Given the description of an element on the screen output the (x, y) to click on. 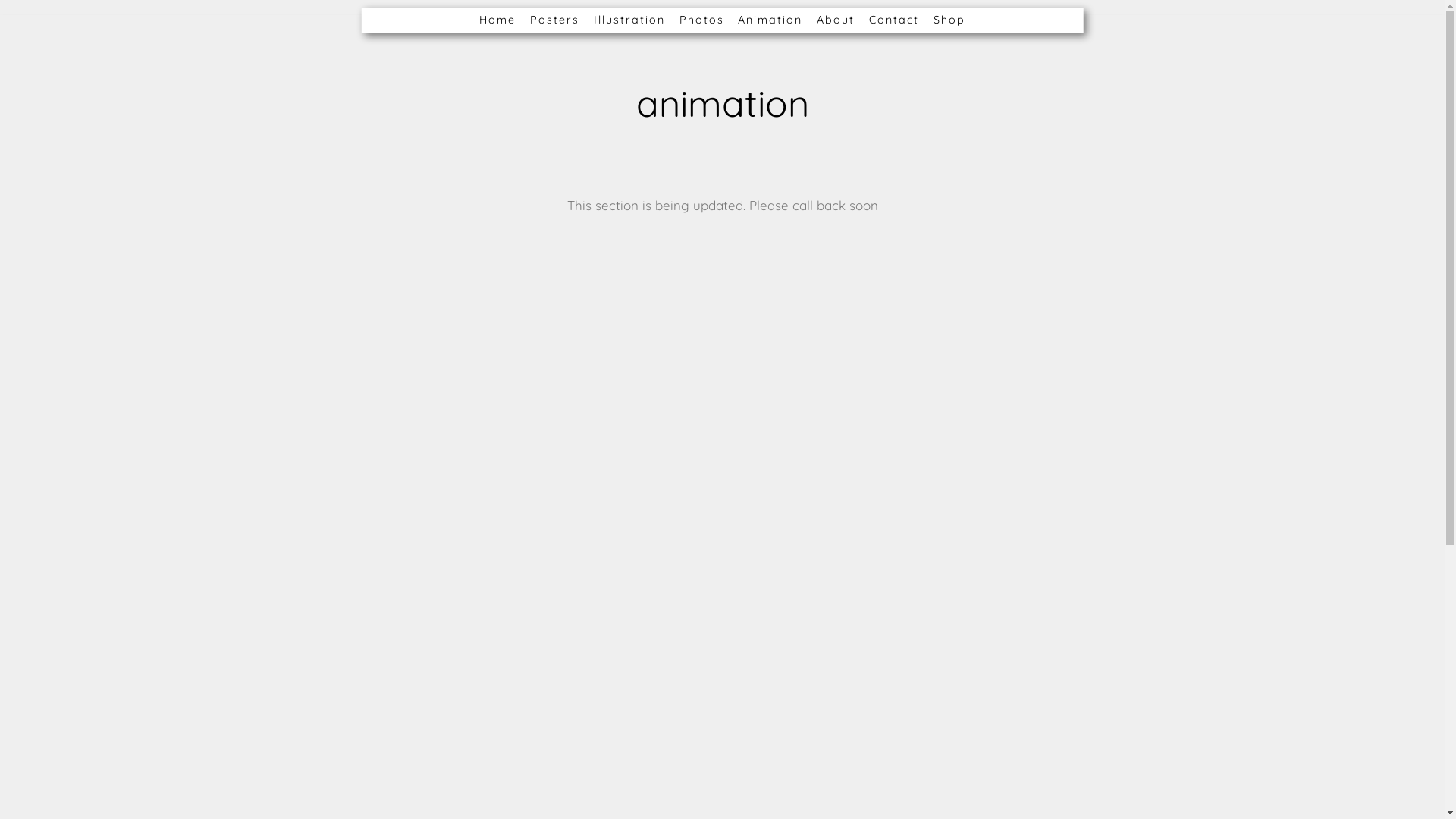
Posters Element type: text (554, 19)
Photos Element type: text (701, 19)
Home Element type: text (497, 19)
Shop Element type: text (949, 19)
About Element type: text (835, 19)
Animation Element type: text (770, 19)
Illustration Element type: text (628, 19)
Contact Element type: text (893, 19)
